Given the description of an element on the screen output the (x, y) to click on. 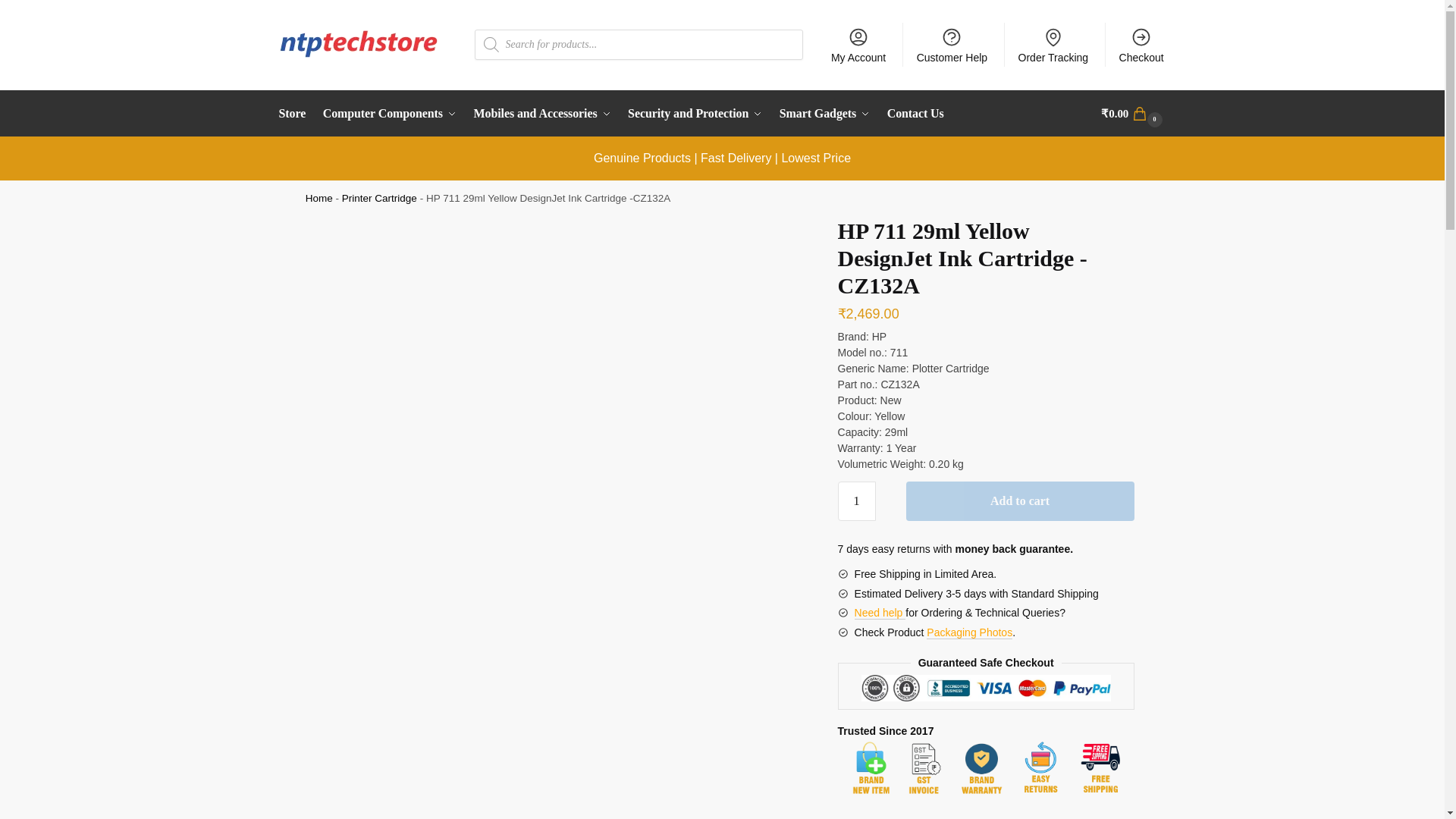
Computer Components (389, 113)
Checkout (1141, 44)
Order Tracking (1053, 44)
1 (857, 500)
View your shopping cart (1133, 113)
My Account (858, 44)
Customer Help (951, 44)
